Given the description of an element on the screen output the (x, y) to click on. 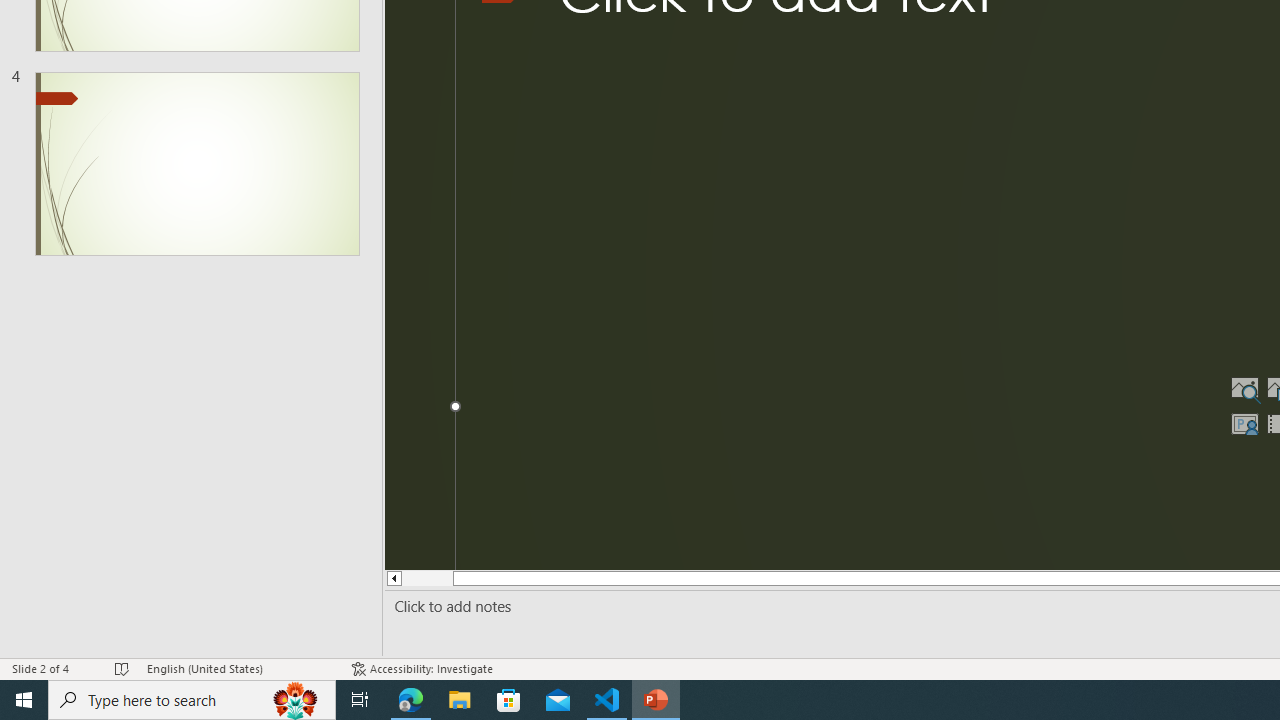
Stock Images (1244, 387)
Insert Cameo (1244, 423)
